Given the description of an element on the screen output the (x, y) to click on. 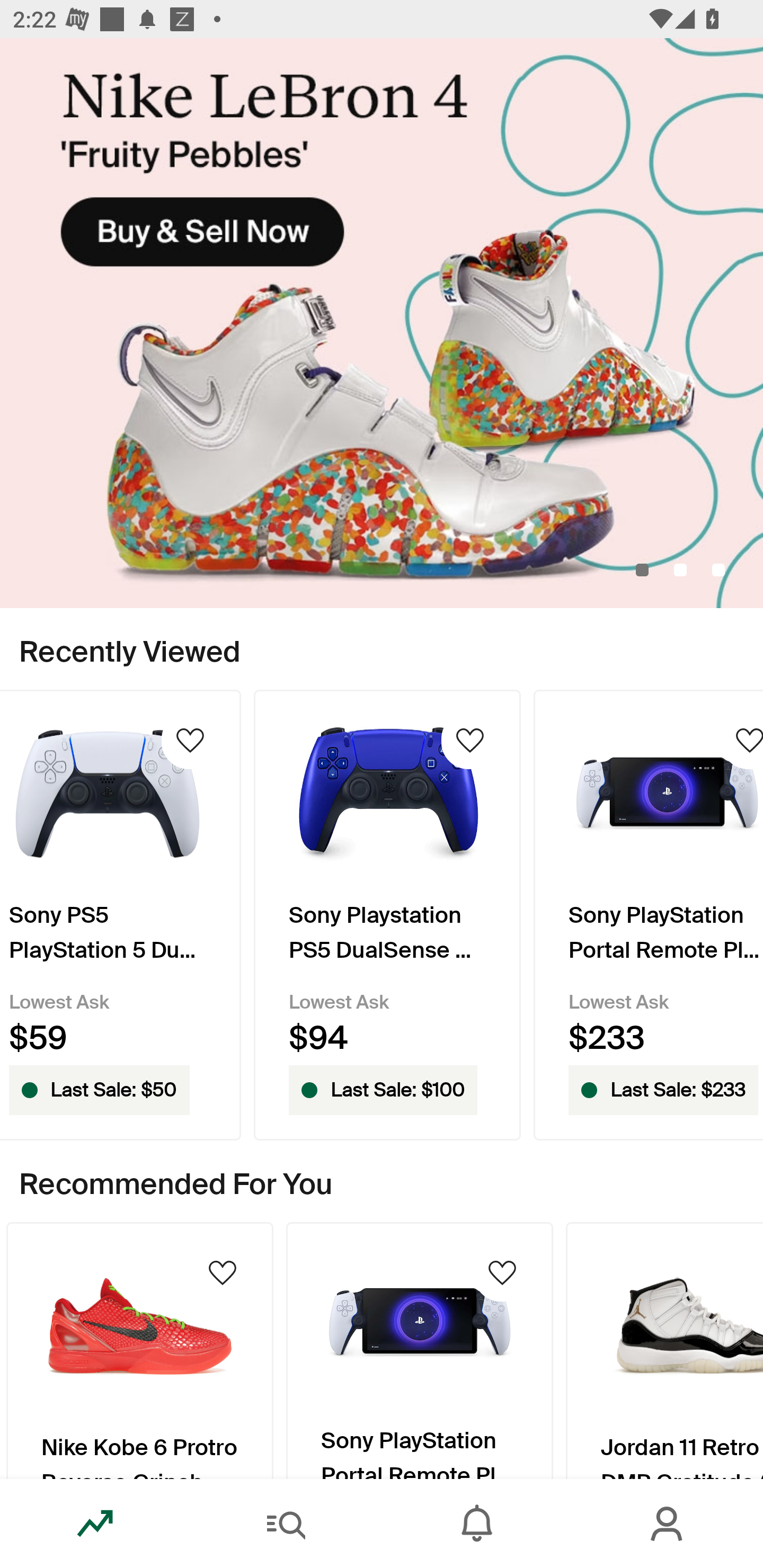
Product Image Nike Kobe 6 Protro Reverse Grinch (139, 1349)
Search (285, 1523)
Inbox (476, 1523)
Account (667, 1523)
